Given the description of an element on the screen output the (x, y) to click on. 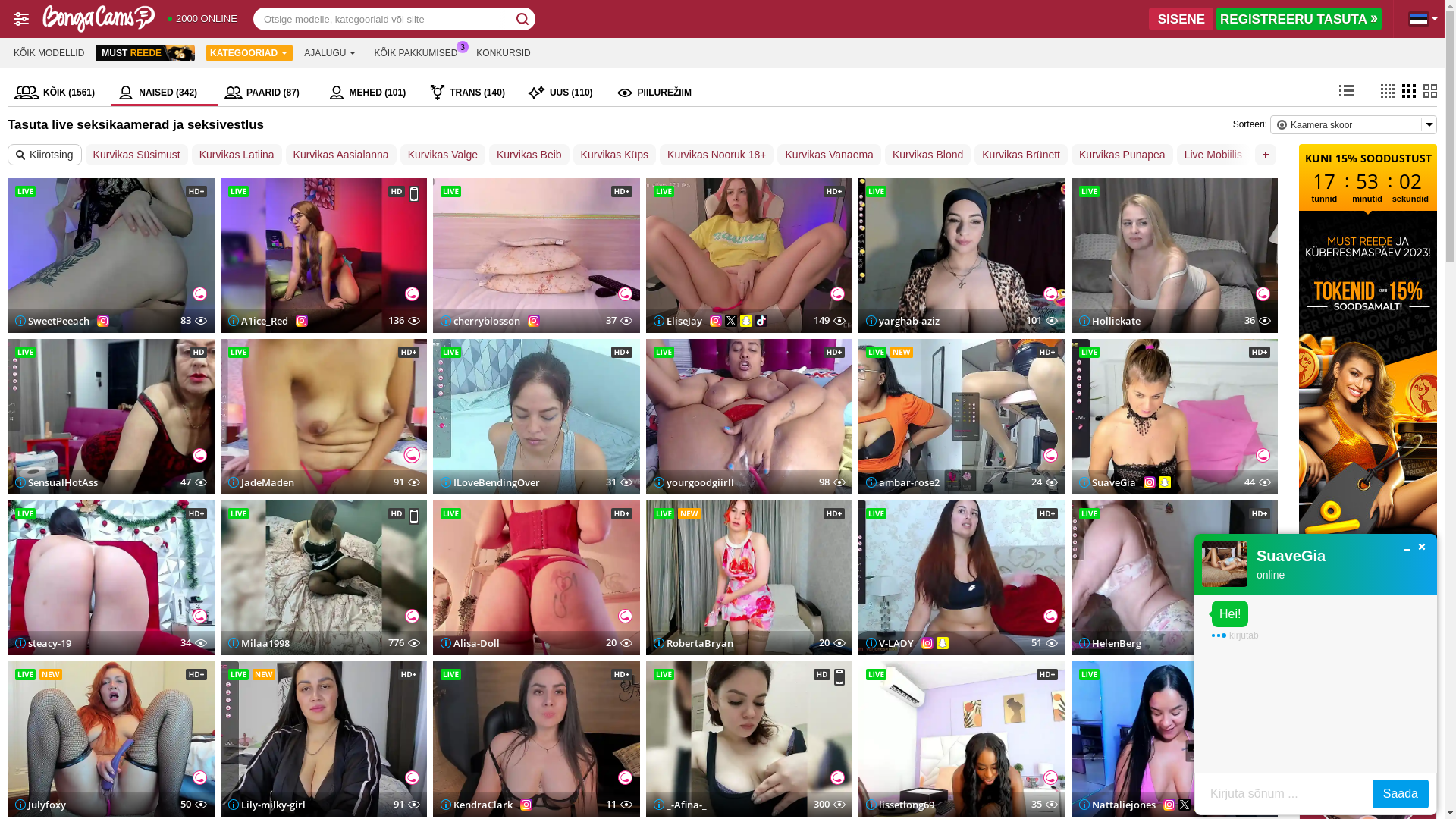
HelenBerg Element type: text (1109, 642)
SweetPeeach Element type: text (52, 320)
KendraClark Element type: text (476, 803)
Kurvikas Punapea Element type: text (1122, 154)
SuaveGia Element type: text (1106, 482)
UUS (110) Element type: text (565, 92)
Kurvikas Latiina Element type: text (236, 154)
Kurvikas Valge Element type: text (442, 154)
NAISED (342) Element type: text (164, 92)
Kurvikas Vanaema Element type: text (828, 154)
TRANS (140) Element type: text (471, 92)
cherryblosson Element type: text (480, 320)
SISENE Element type: text (1180, 18)
V-LADY Element type: text (889, 642)
Alisa-Doll Element type: text (469, 642)
JadeMaden Element type: text (260, 482)
REGISTREERU TASUTA Element type: text (1298, 18)
Holliekate Element type: text (1108, 320)
KONKURSID Element type: text (502, 52)
Kurvikas Nooruk 18+ Element type: text (716, 154)
MEHED (101) Element type: text (372, 92)
PAARID (87) Element type: text (269, 92)
Milaa1998 Element type: text (257, 642)
MUST REEDE Element type: text (144, 52)
EliseJay Element type: text (677, 320)
Kurvikas Blond Element type: text (927, 154)
_-Afina-_ Element type: text (679, 803)
steacy-19 Element type: text (43, 642)
ambar-rose2 Element type: text (902, 482)
RobertaBryan Element type: text (693, 642)
yourgoodgiirll Element type: text (693, 482)
Live Mobiilis Element type: text (1212, 154)
SensualHotAss Element type: text (56, 482)
ILoveBendingOver Element type: text (489, 482)
lissetlong69 Element type: text (900, 803)
Nattaliejones Element type: text (1116, 803)
yarghab-aziz Element type: text (902, 320)
Kurvikas Beib Element type: text (529, 154)
A1ice_Red Element type: text (257, 320)
Lily-milky-girl Element type: text (265, 803)
Julyfoxy Element type: text (40, 803)
Kurvikas Aasialanna Element type: text (340, 154)
